Given the description of an element on the screen output the (x, y) to click on. 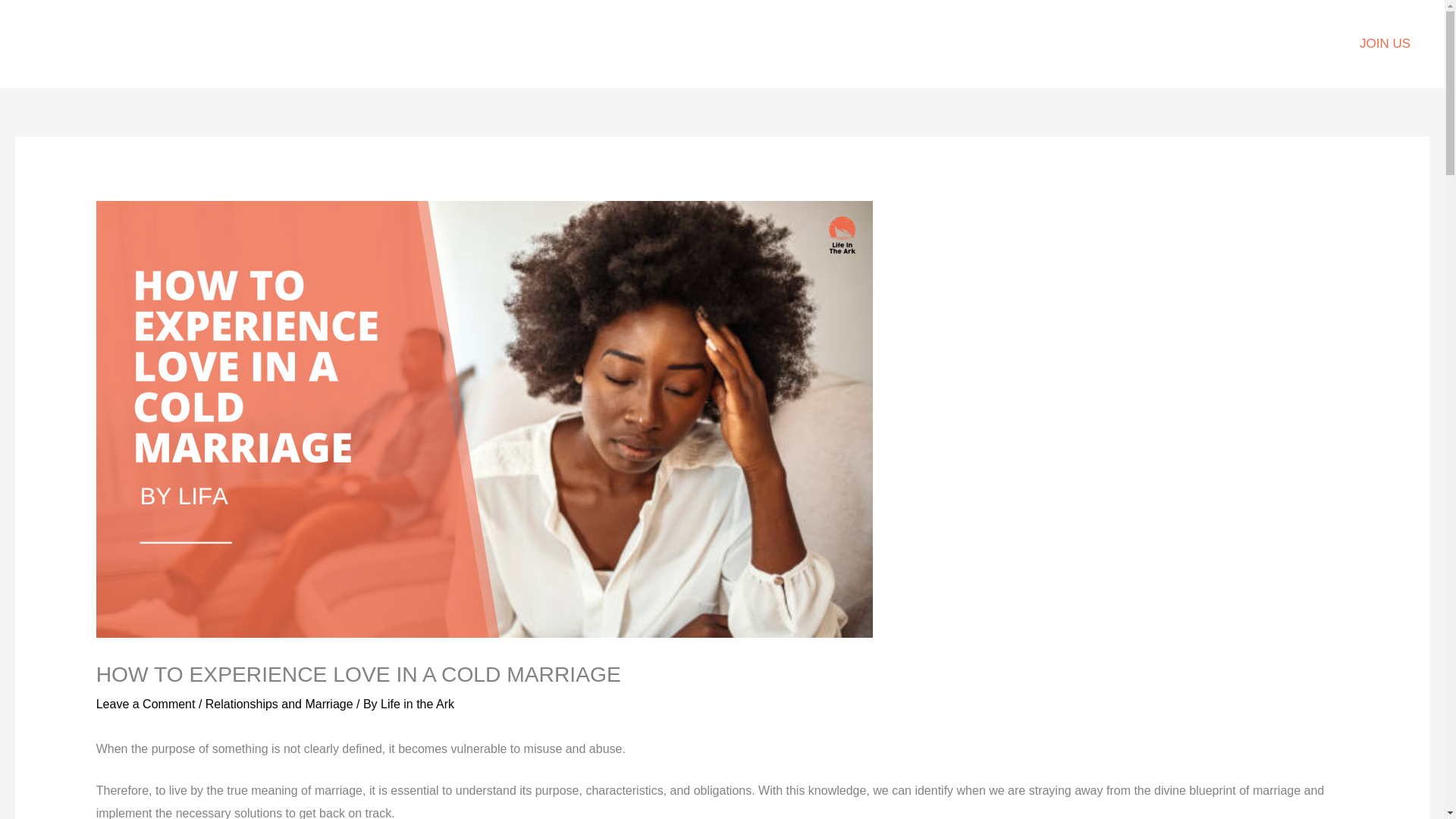
Blog (648, 43)
Home (592, 43)
Relationships and Marriage (279, 703)
Contact Us (835, 43)
Connect with us (732, 43)
View all posts by Life in the Ark (417, 703)
JOIN US (1384, 43)
Leave a Comment (145, 703)
Life in the Ark (417, 703)
